Given the description of an element on the screen output the (x, y) to click on. 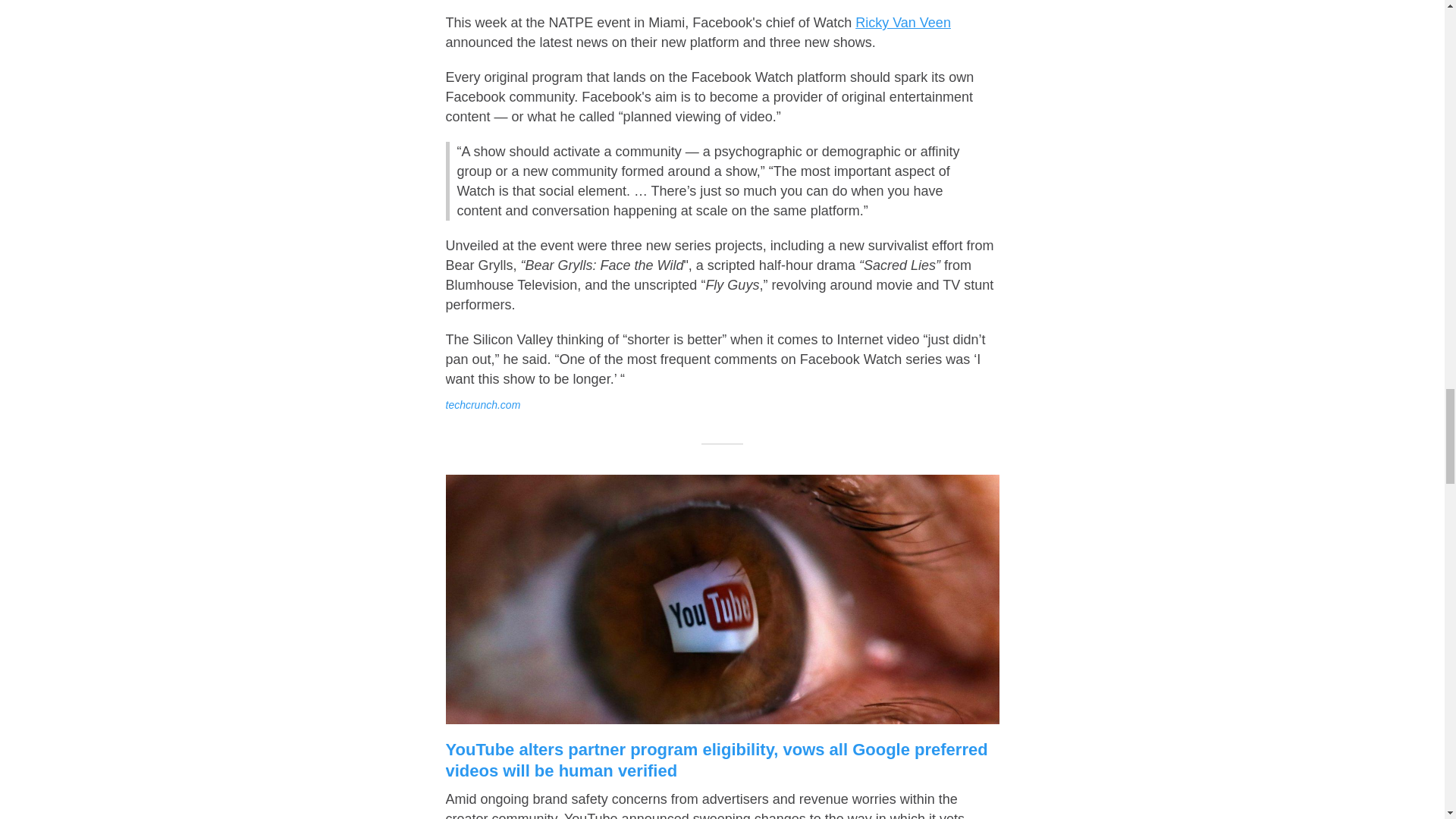
Ricky Van Veen (903, 22)
techcrunch.com (483, 404)
